Given the description of an element on the screen output the (x, y) to click on. 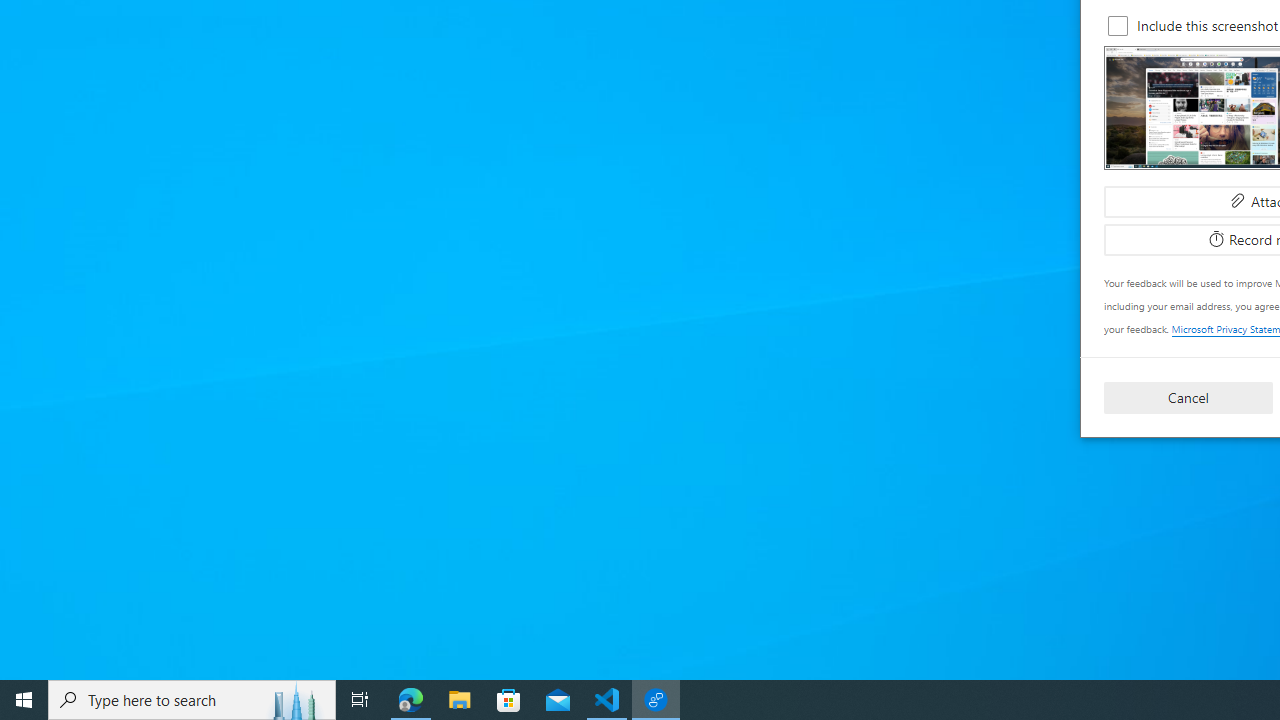
Edge Feedback - 1 running window (656, 699)
Visual Studio Code - 1 running window (607, 699)
Microsoft Store (509, 699)
Include this screenshot (1117, 25)
Search highlights icon opens search home window (295, 699)
Start (24, 699)
Type here to search (191, 699)
File Explorer (460, 699)
Task View (359, 699)
Microsoft Edge - 1 running window (411, 699)
Cancel (1188, 396)
